Given the description of an element on the screen output the (x, y) to click on. 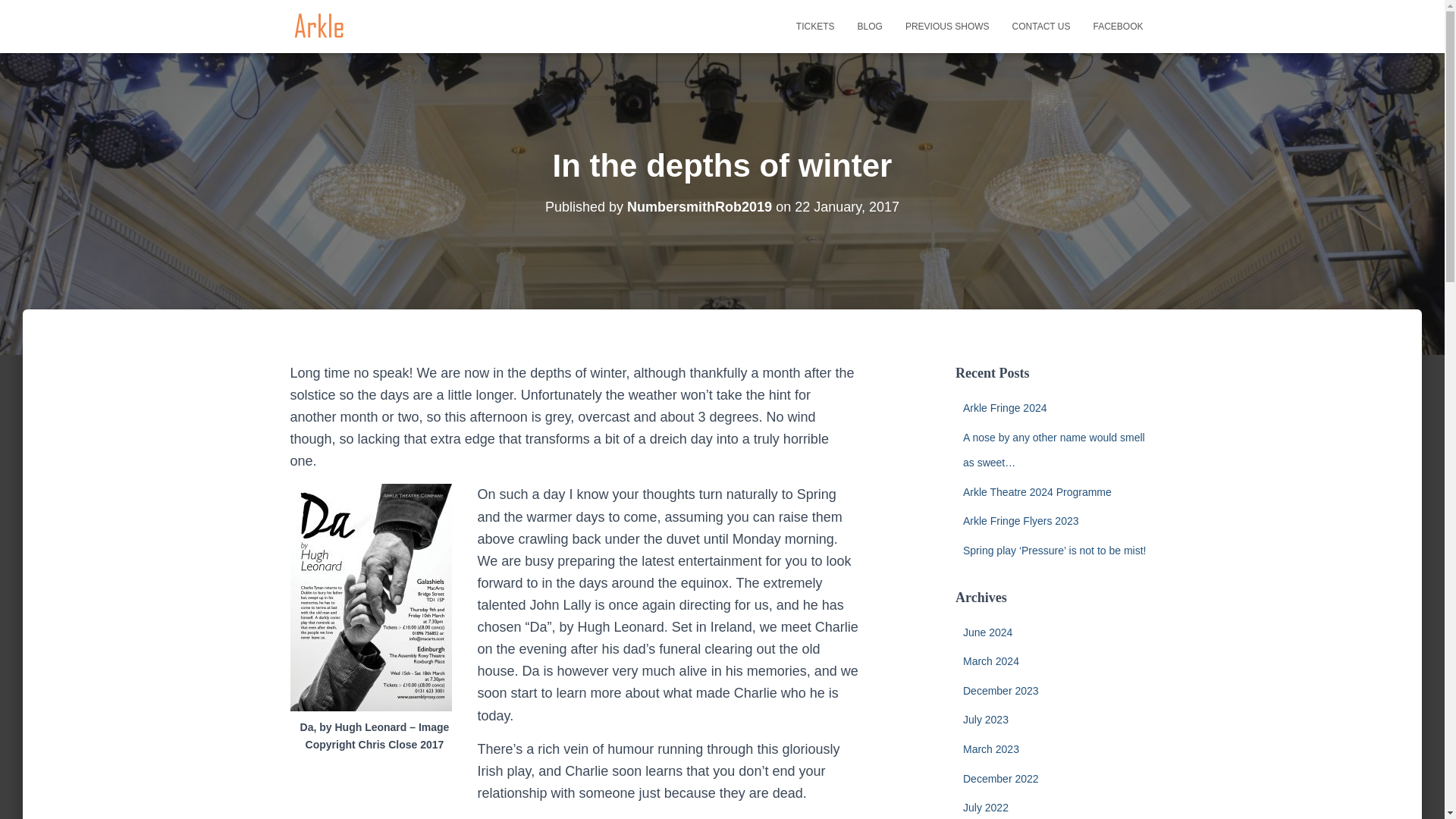
July 2023 (985, 719)
BLOG (869, 26)
March 2024 (990, 661)
CONTACT US (1041, 26)
Tickets (814, 26)
Arkle Fringe Flyers 2023 (1020, 521)
Arkle Fringe 2024 (1004, 408)
March 2023 (990, 748)
Contact us (1041, 26)
December 2023 (1000, 690)
PREVIOUS SHOWS (947, 26)
June 2024 (986, 632)
July 2022 (985, 807)
December 2022 (1000, 778)
Previous shows (947, 26)
